Given the description of an element on the screen output the (x, y) to click on. 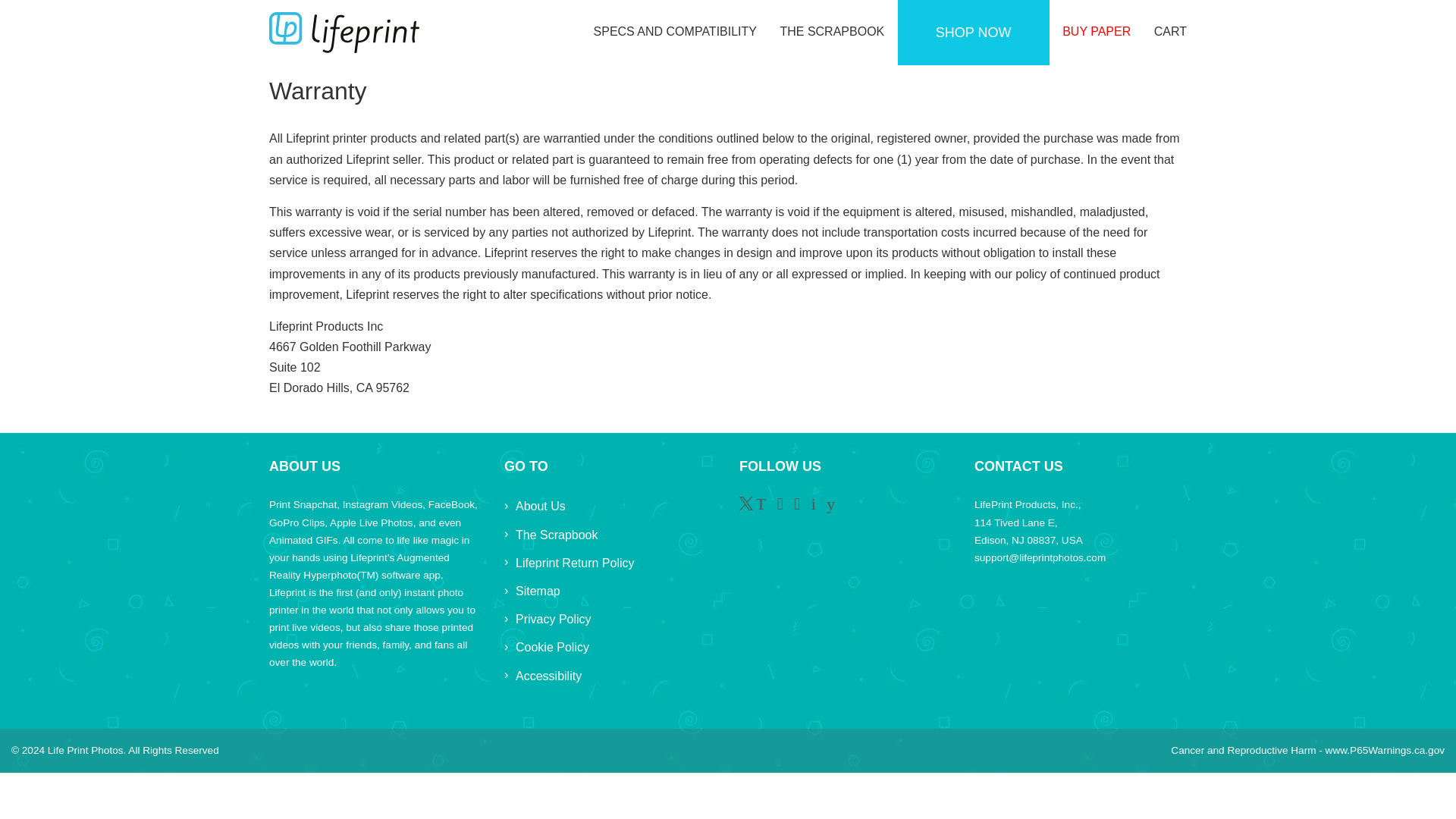
www.P65Warnings.ca.gov (1384, 749)
Sitemap (537, 590)
BUY PAPER (1096, 31)
SHOP NOW (973, 32)
Cookie Policy (552, 646)
THE SCRAPBOOK (831, 31)
The Scrapbook (556, 534)
Privacy Policy (553, 618)
SPECS AND COMPATIBILITY (680, 31)
CART (1165, 31)
Lifeprint Photos on Twitter (752, 505)
Lifeprint Return Policy (574, 562)
Twitter (752, 505)
About Us (540, 505)
